Given the description of an element on the screen output the (x, y) to click on. 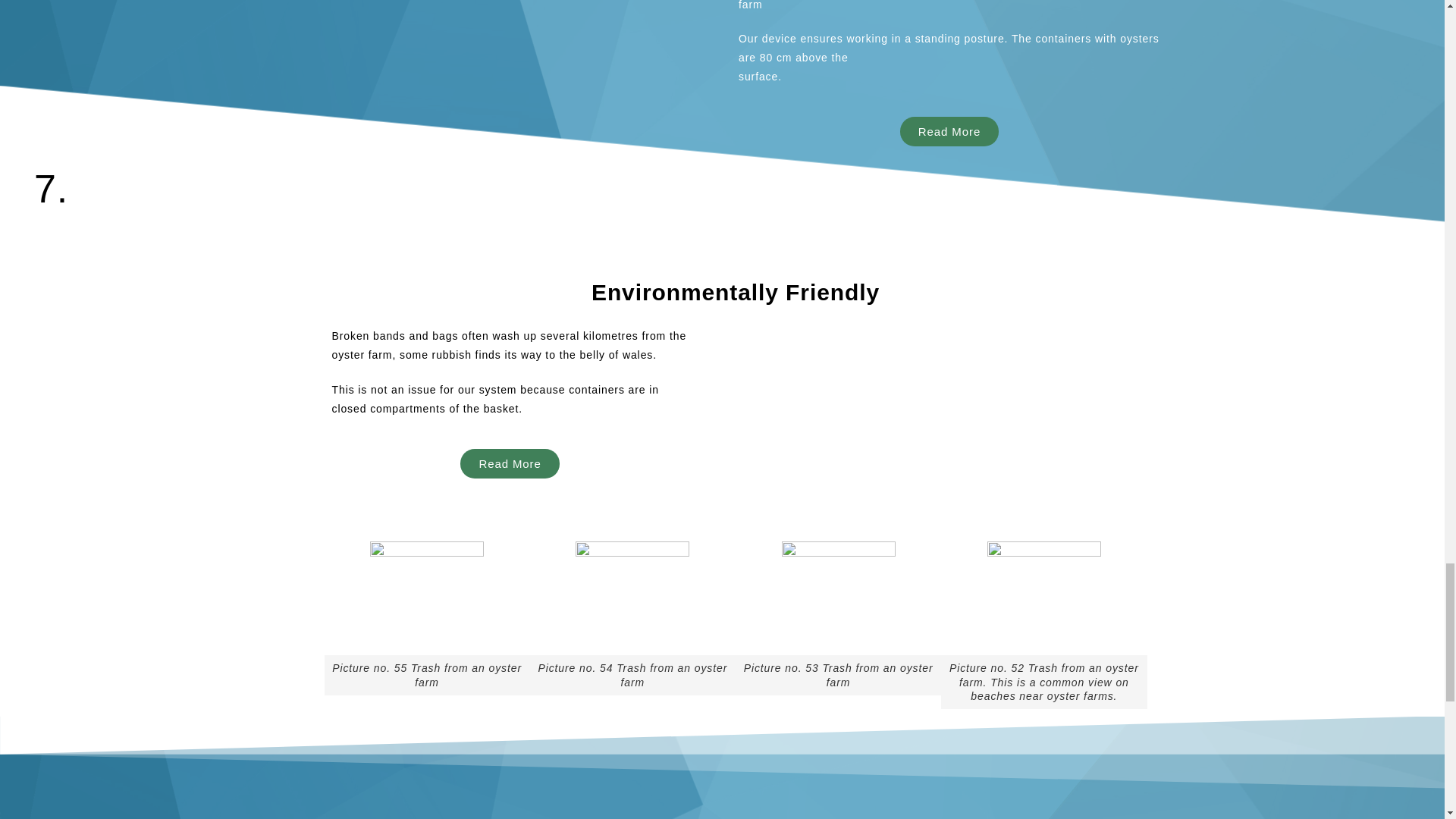
Read More (948, 131)
Read More (509, 463)
